Given the description of an element on the screen output the (x, y) to click on. 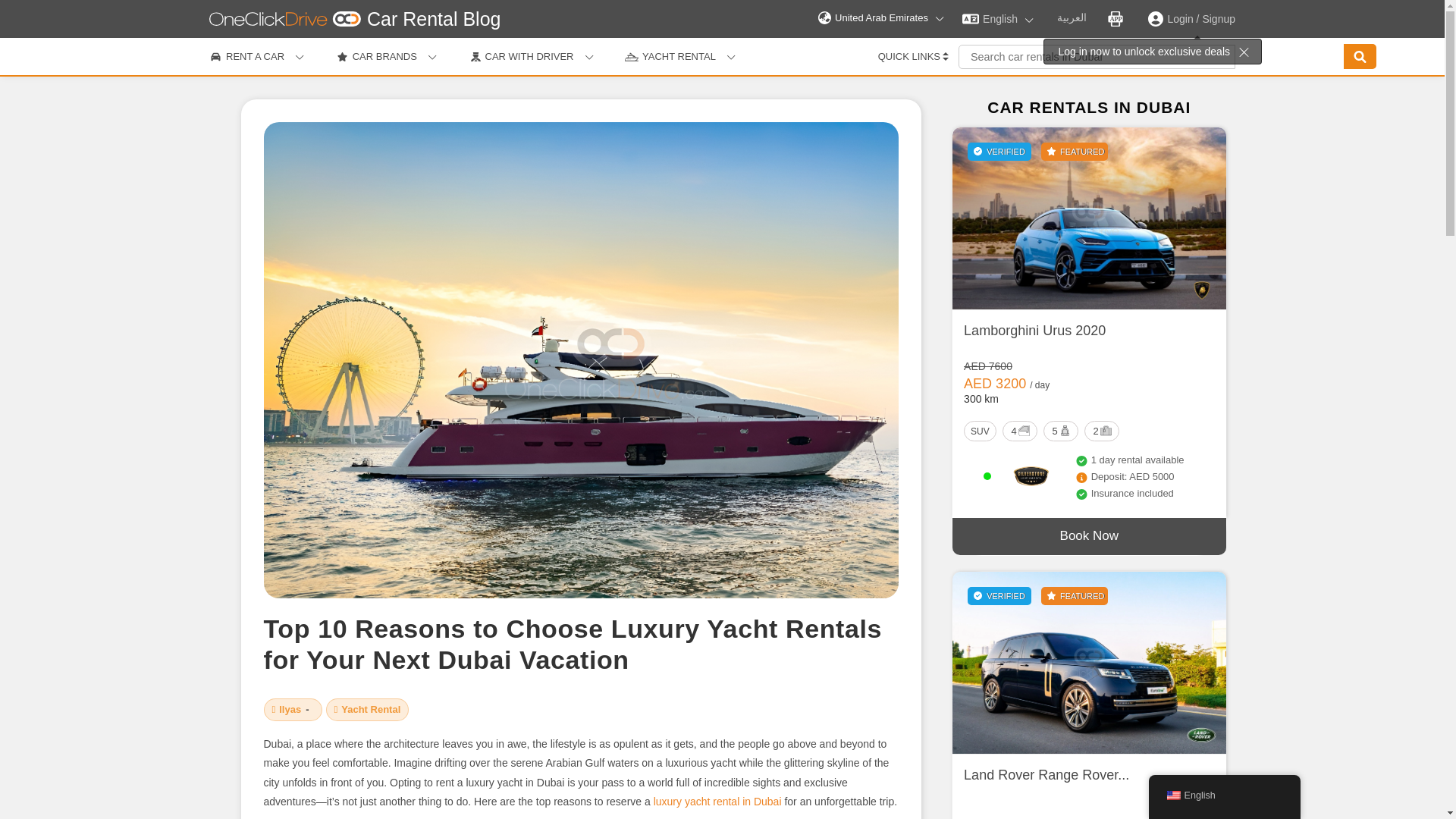
OneClickDrive (290, 708)
English (997, 18)
Car Rental Blog (433, 19)
Lamborghini Urus 2020 for rent in Dubai (1088, 218)
APP (1115, 18)
APP (1116, 18)
Lamborghini Car Rental in Dubai (1201, 290)
Standard mileage included in daily rental costs (1039, 385)
